Given the description of an element on the screen output the (x, y) to click on. 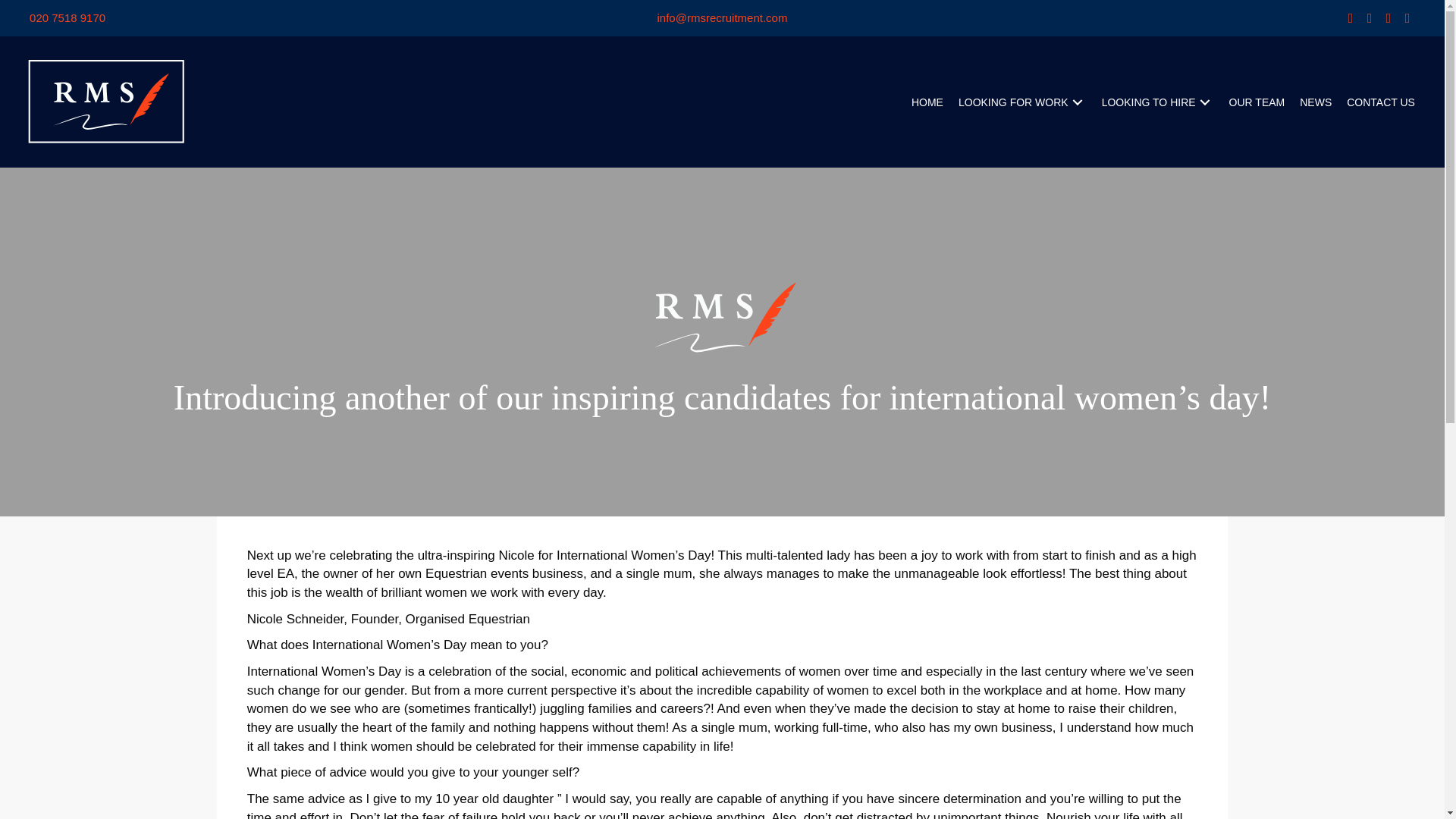
rms test no bg (721, 317)
HOME (927, 101)
Facebook (1350, 17)
CONTACT US (1380, 101)
LOOKING TO HIRE (1157, 101)
NEWS (1315, 101)
Instagram (1388, 17)
OUR TEAM (1256, 101)
LinkedIn (1369, 17)
LOOKING FOR WORK (1022, 101)
